Given the description of an element on the screen output the (x, y) to click on. 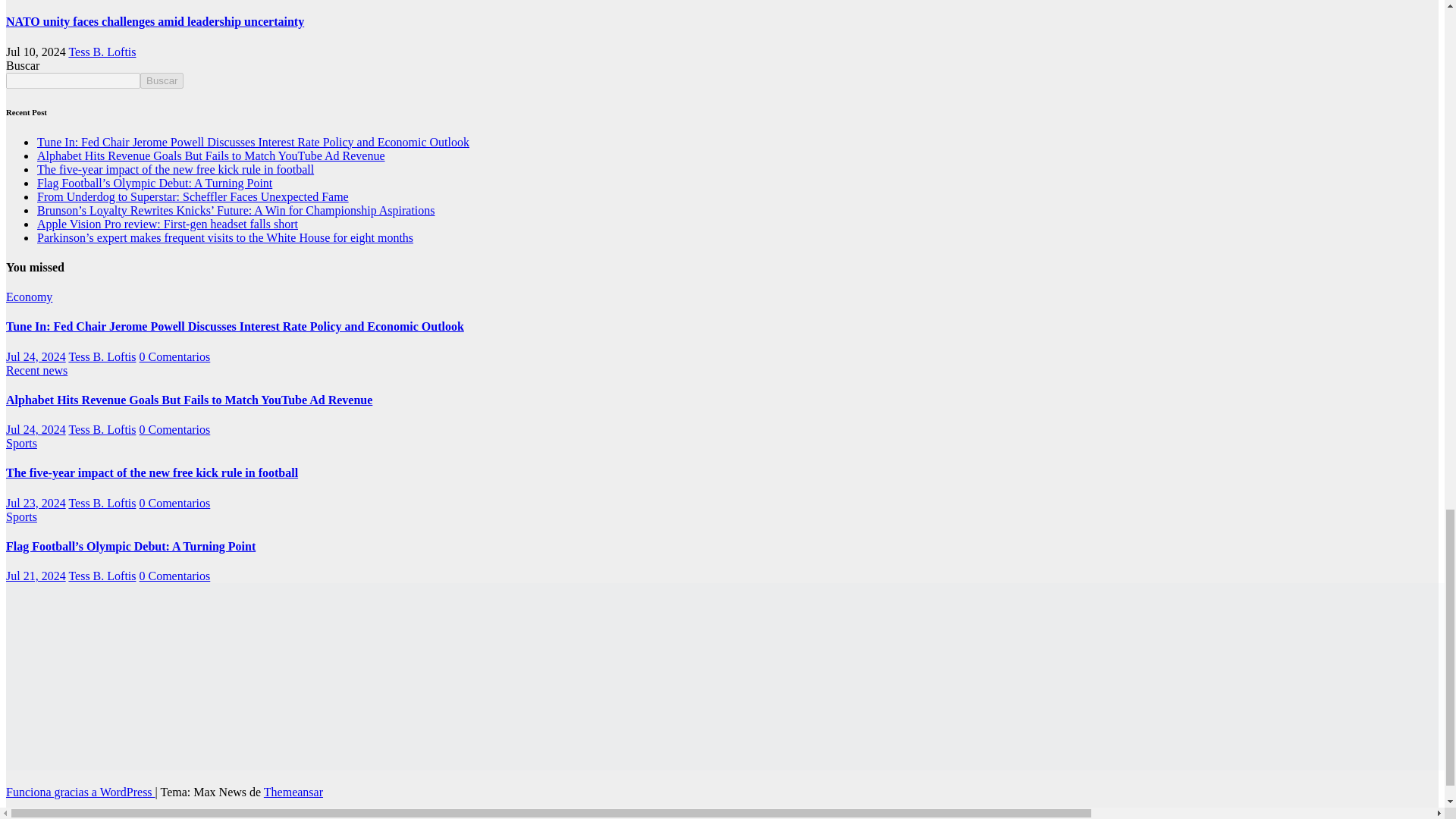
Tess B. Loftis (101, 51)
NATO unity faces challenges amid leadership uncertainty (154, 21)
